Given the description of an element on the screen output the (x, y) to click on. 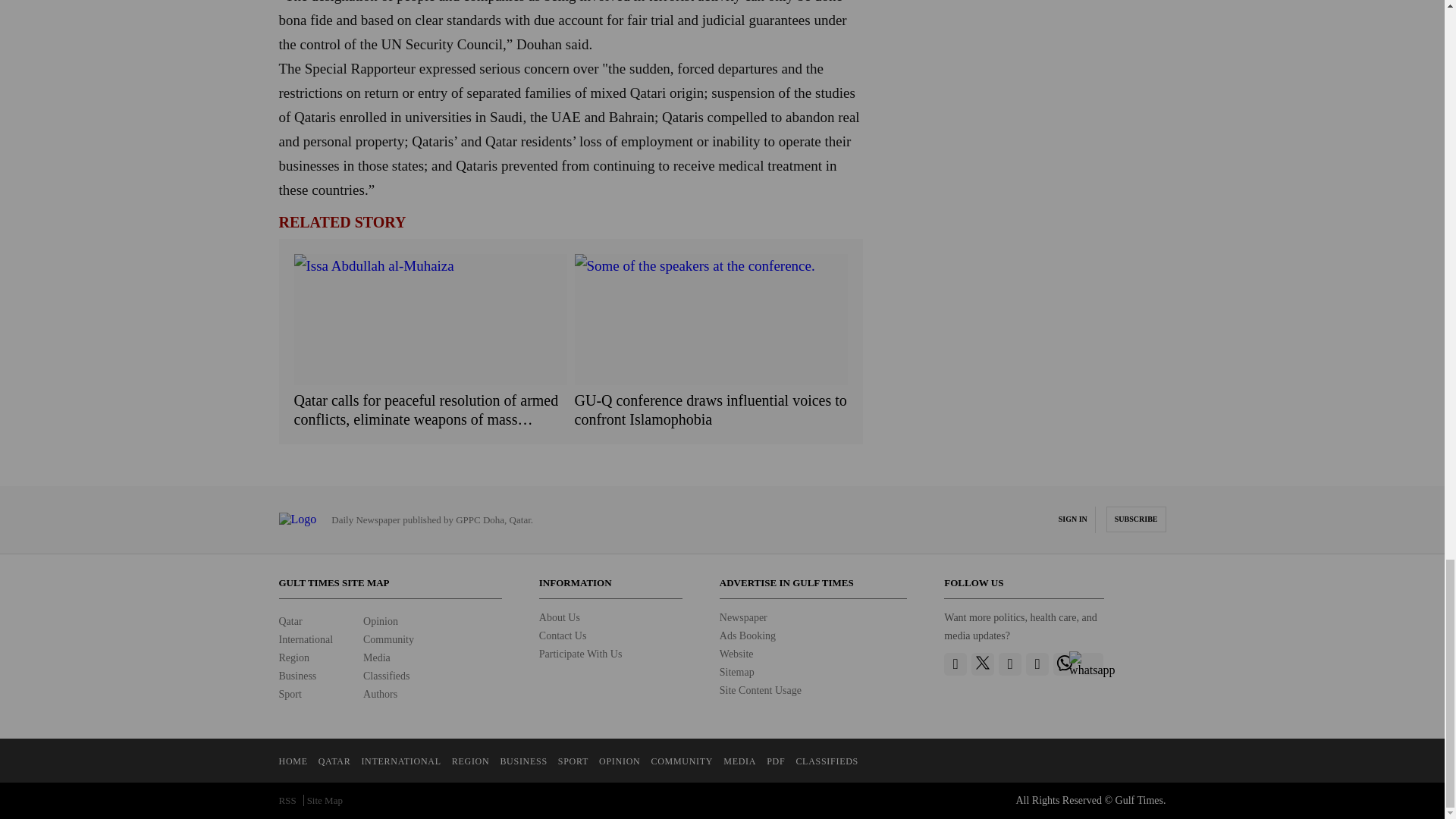
International (306, 639)
About Us (558, 617)
Media (376, 657)
SUBSCRIBE (1136, 519)
Qatar (290, 621)
Authors (379, 694)
Business (298, 675)
Community (387, 639)
Opinion (379, 621)
